Given the description of an element on the screen output the (x, y) to click on. 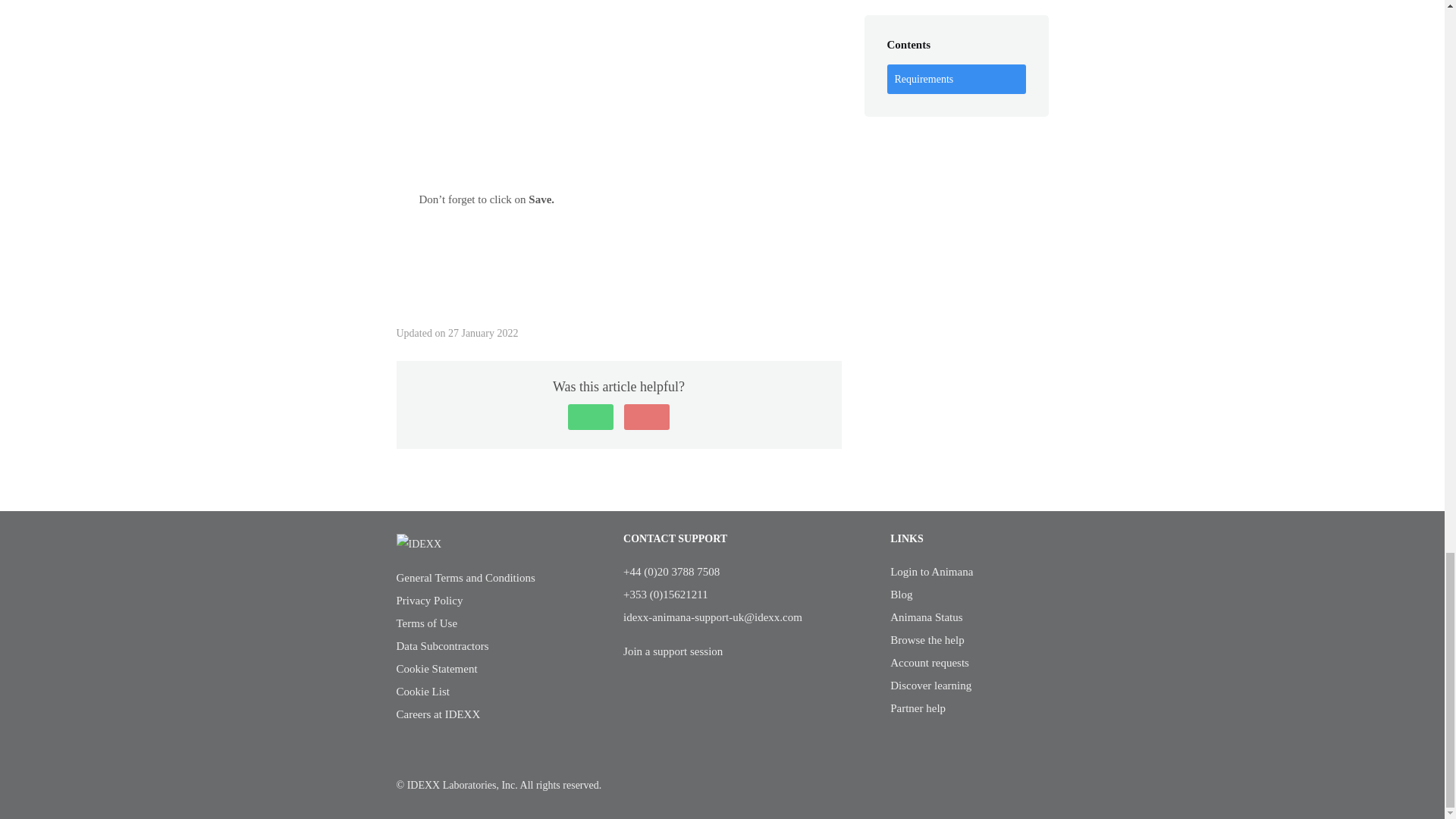
Careers at IDEXX (438, 714)
Join a support session (672, 651)
Terms of Use (426, 623)
Animana Status (925, 616)
General Terms and Conditions (465, 577)
Cookie List (422, 691)
Blog (900, 594)
Account requests (929, 662)
Login to Animana (930, 571)
Browse the help (926, 639)
